Given the description of an element on the screen output the (x, y) to click on. 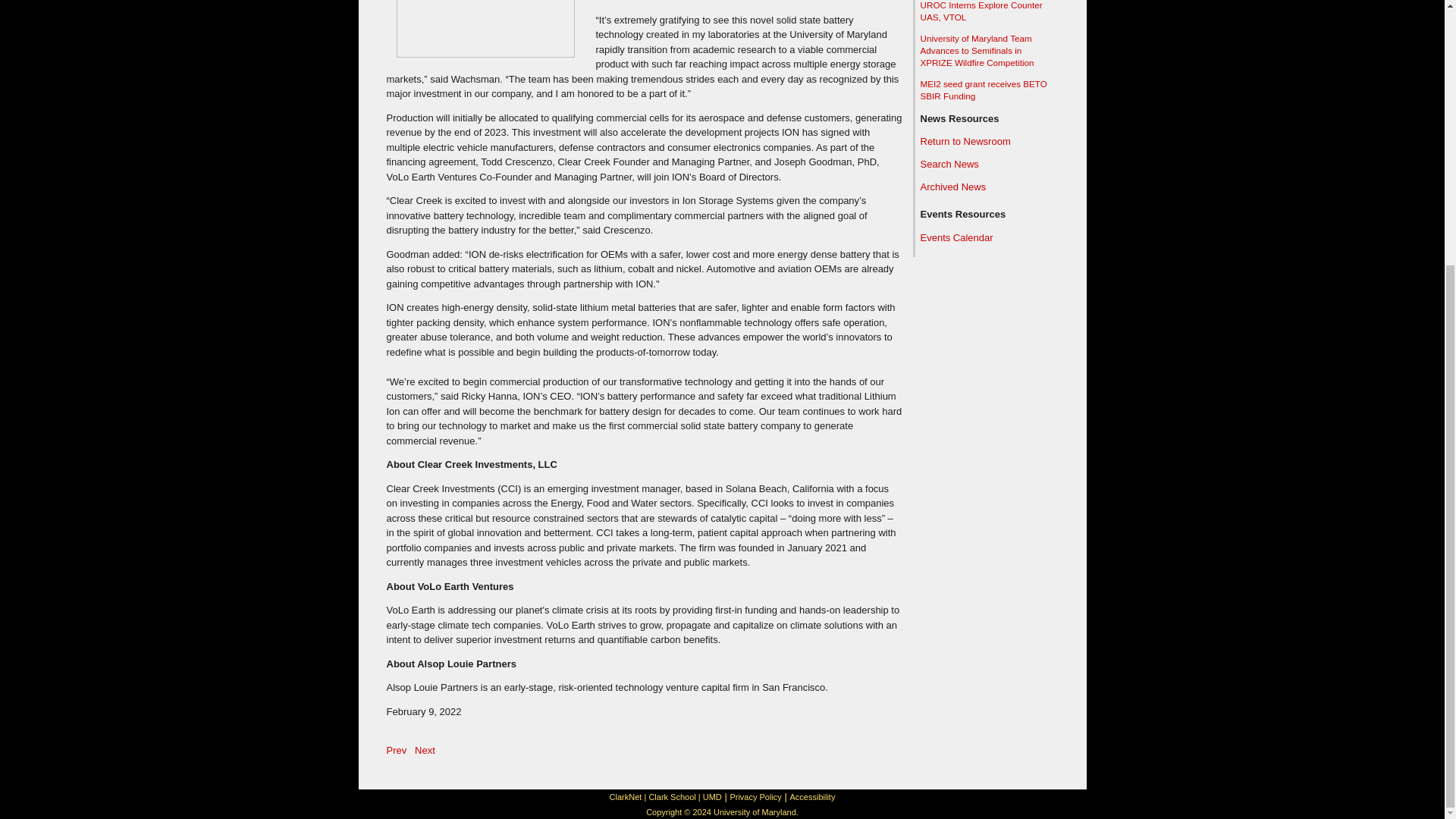
Next (424, 749)
Prev (397, 749)
